Given the description of an element on the screen output the (x, y) to click on. 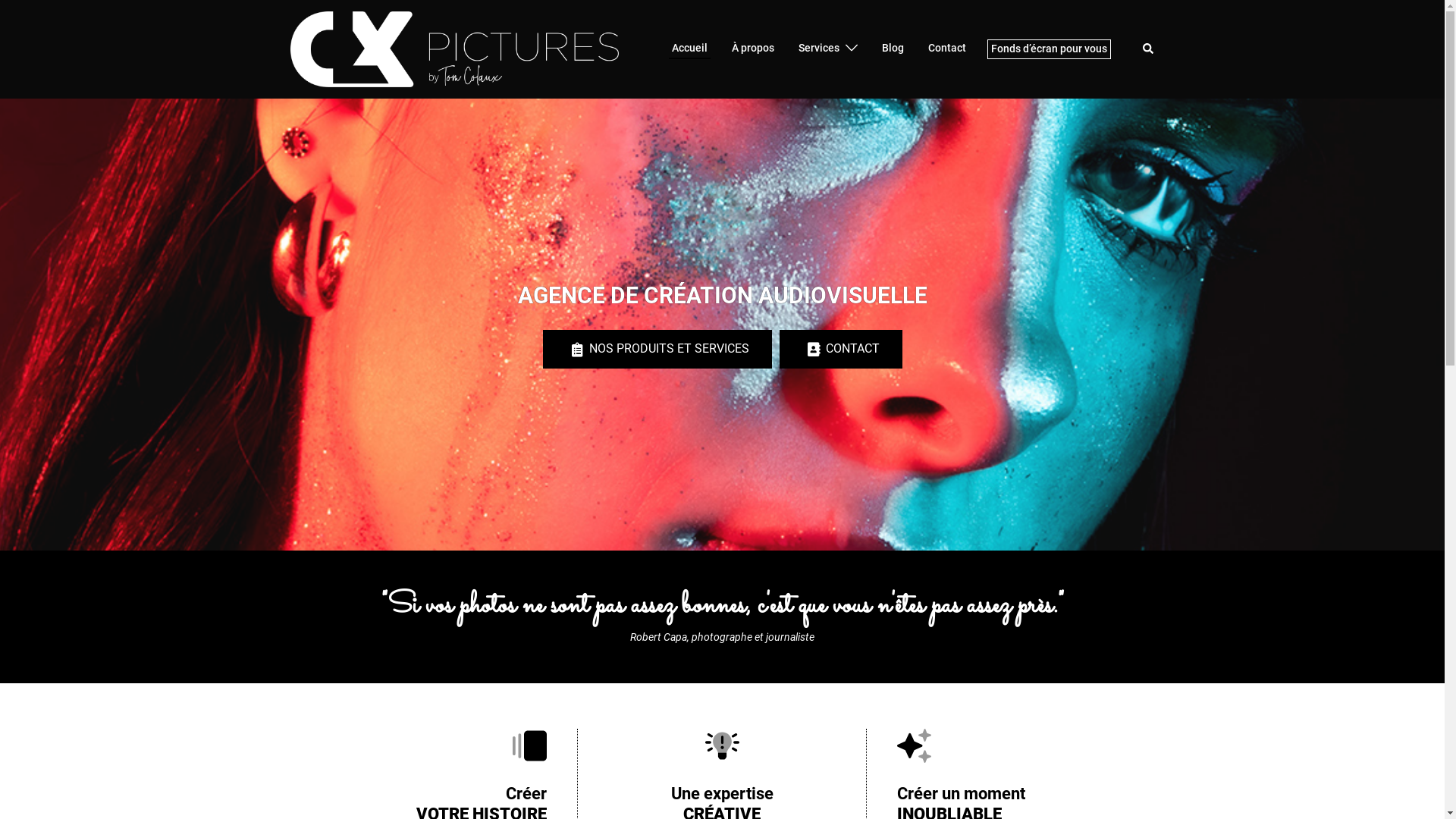
NOS PRODUITS ET SERVICES Element type: text (656, 348)
CONTACT Element type: text (840, 348)
Blog Element type: text (892, 48)
Accueil Element type: text (689, 48)
Contact Element type: text (947, 48)
Services Element type: text (817, 48)
CLX Pictures Element type: hover (453, 48)
